Given the description of an element on the screen output the (x, y) to click on. 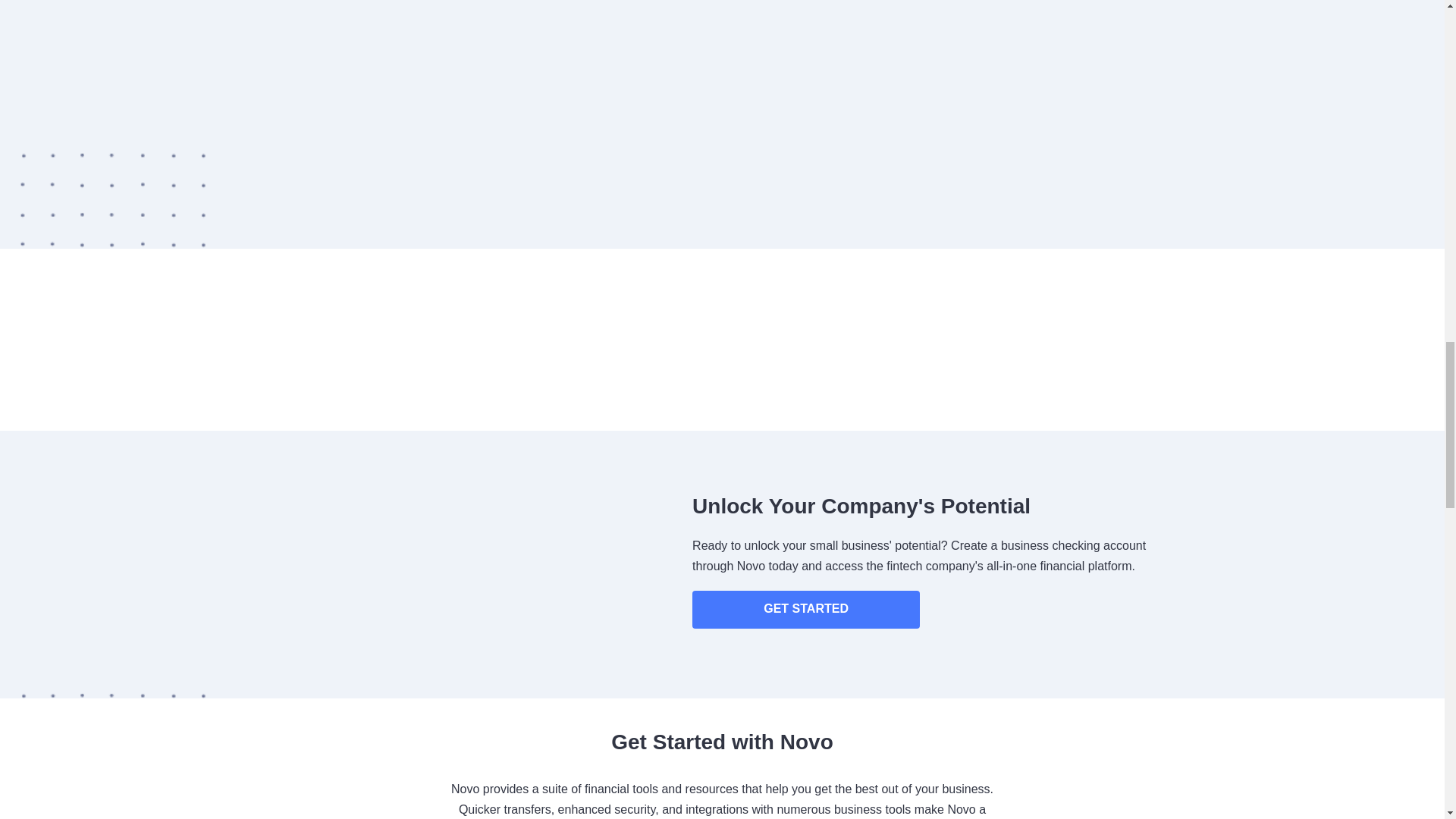
GET STARTED (806, 609)
